Given the description of an element on the screen output the (x, y) to click on. 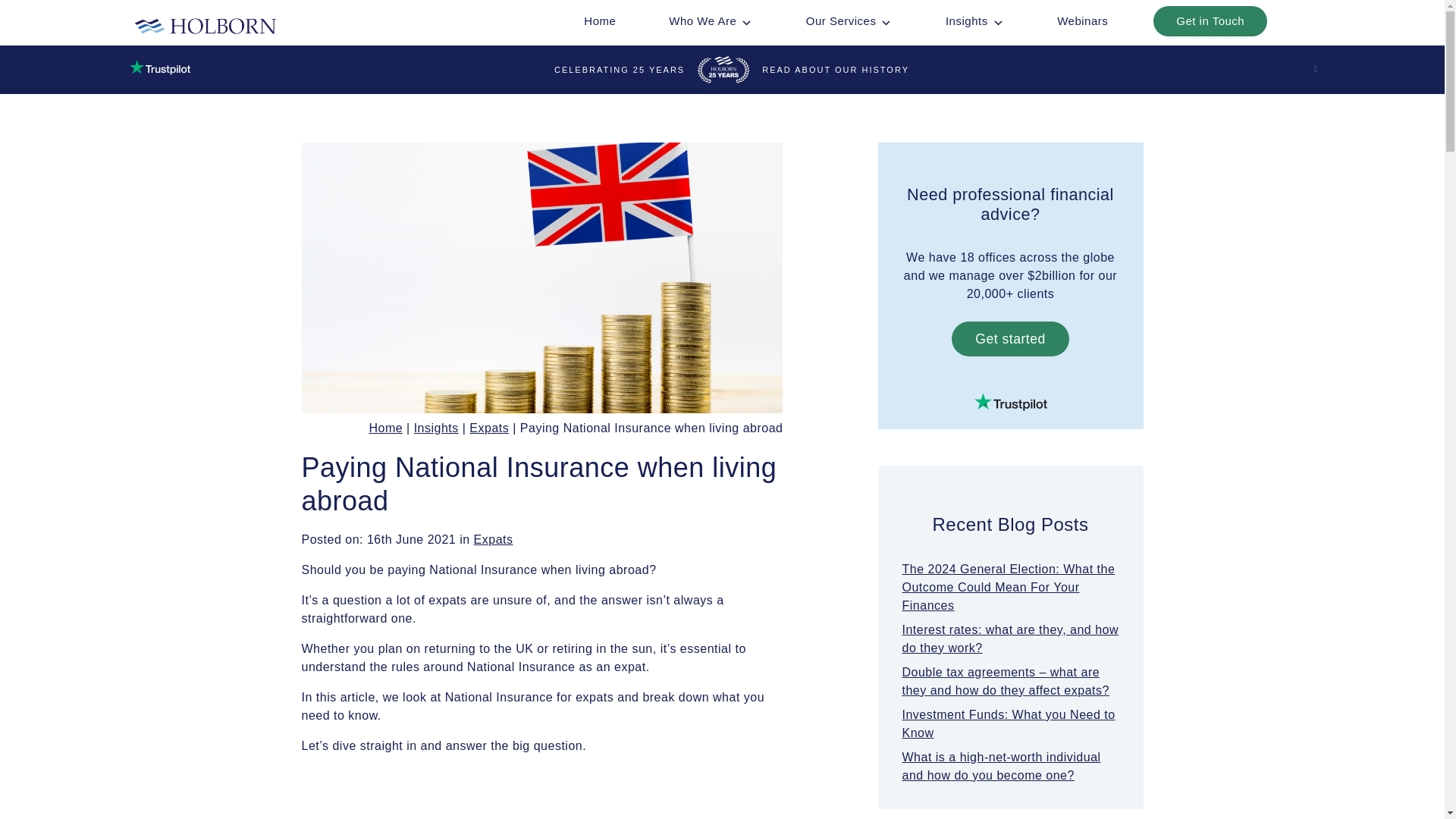
Customer reviews powered by Trustpilot (1010, 402)
Our Services (848, 20)
Insights (974, 20)
Who We Are (710, 20)
Home (599, 20)
View all (493, 539)
